Given the description of an element on the screen output the (x, y) to click on. 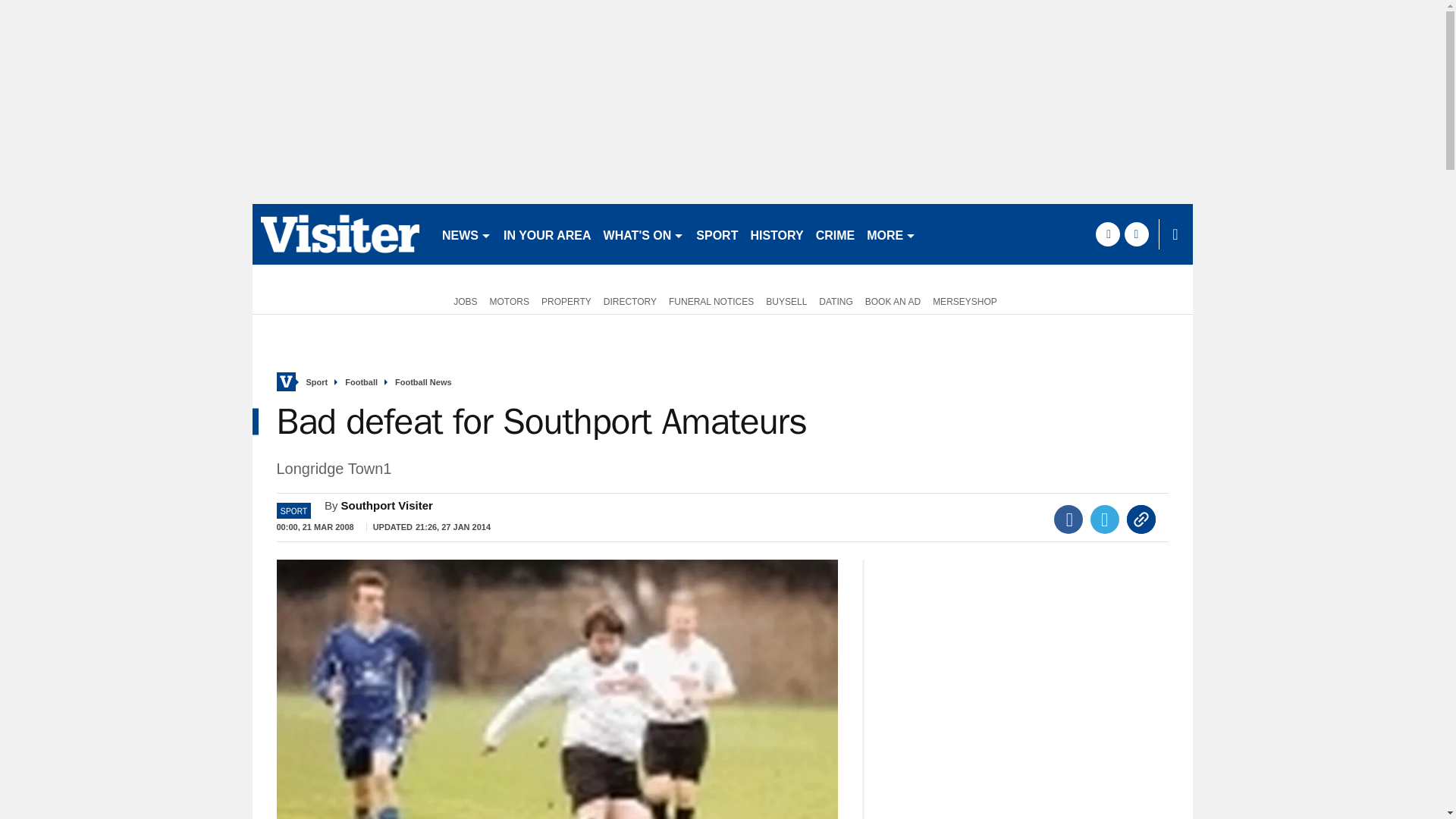
BOOK AN AD (892, 300)
Home (285, 381)
Twitter (1104, 519)
DATING (835, 300)
WHAT'S ON (643, 233)
HISTORY (776, 233)
FUNERAL NOTICES (711, 300)
PROPERTY (565, 300)
BUYSELL (786, 300)
MERSEYSHOP (964, 300)
